Given the description of an element on the screen output the (x, y) to click on. 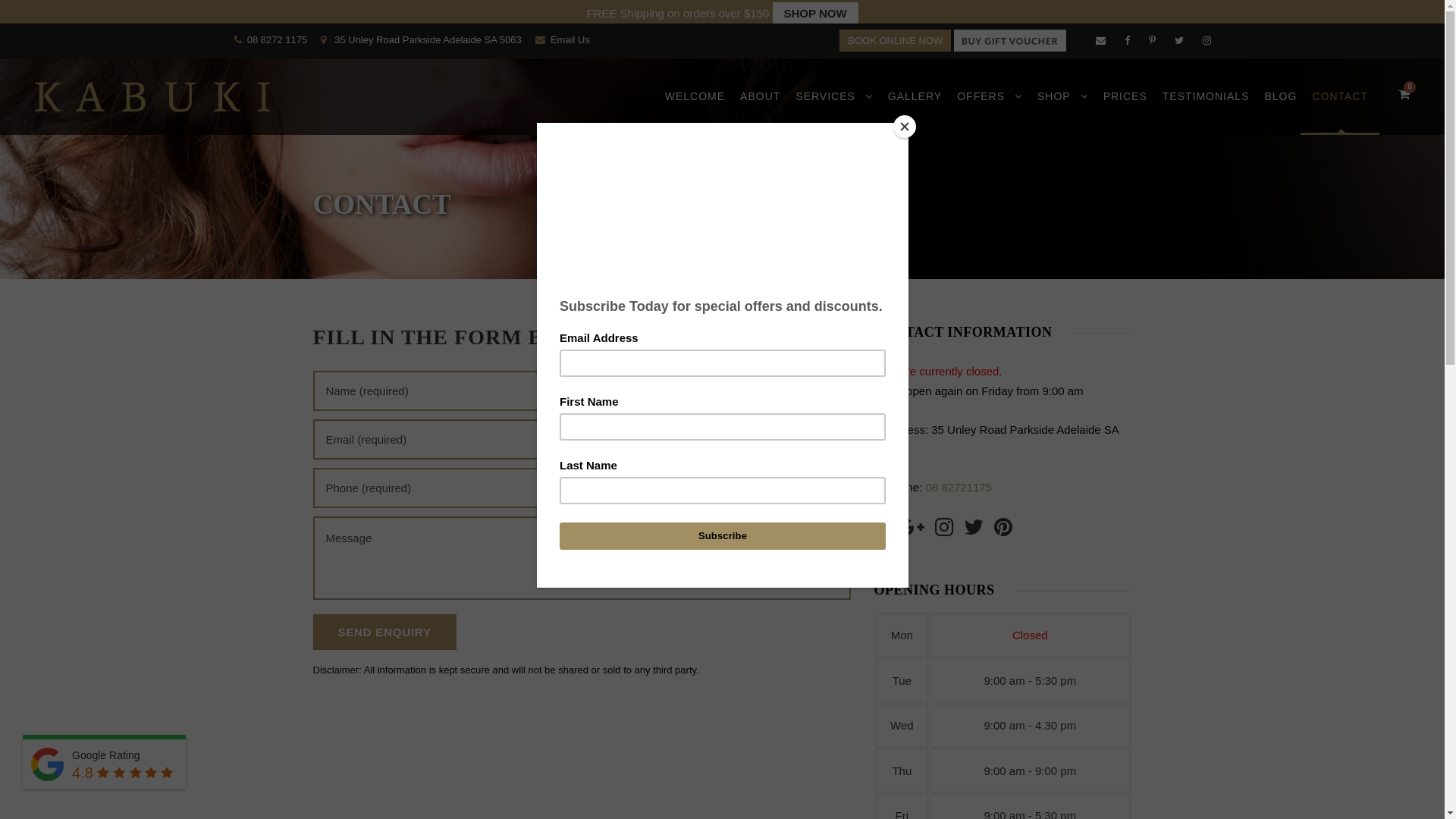
08 8272 1175 Element type: text (278, 39)
GALLERY Element type: text (914, 110)
SERVICES Element type: text (833, 110)
facebook Element type: hover (1126, 40)
SHOP Element type: text (1062, 110)
Send Enquiry Element type: text (383, 631)
SHOP NOW Element type: text (815, 13)
email Element type: hover (1099, 40)
Email Us Element type: text (569, 39)
35 Unley Road Parkside Adelaide SA 5063 Element type: text (427, 39)
CONTACT Element type: text (1339, 110)
OFFERS Element type: text (989, 110)
ABOUT Element type: text (760, 110)
TESTIMONIALS Element type: text (1205, 110)
twitter Element type: hover (1178, 40)
instagram Element type: hover (1206, 40)
PRICES Element type: text (1125, 110)
BOOK ONLINE NOW Element type: text (894, 40)
08 82721175 Element type: text (958, 486)
WELCOME Element type: text (694, 110)
BLOG Element type: text (1280, 110)
pinterest Element type: hover (1151, 40)
